Given the description of an element on the screen output the (x, y) to click on. 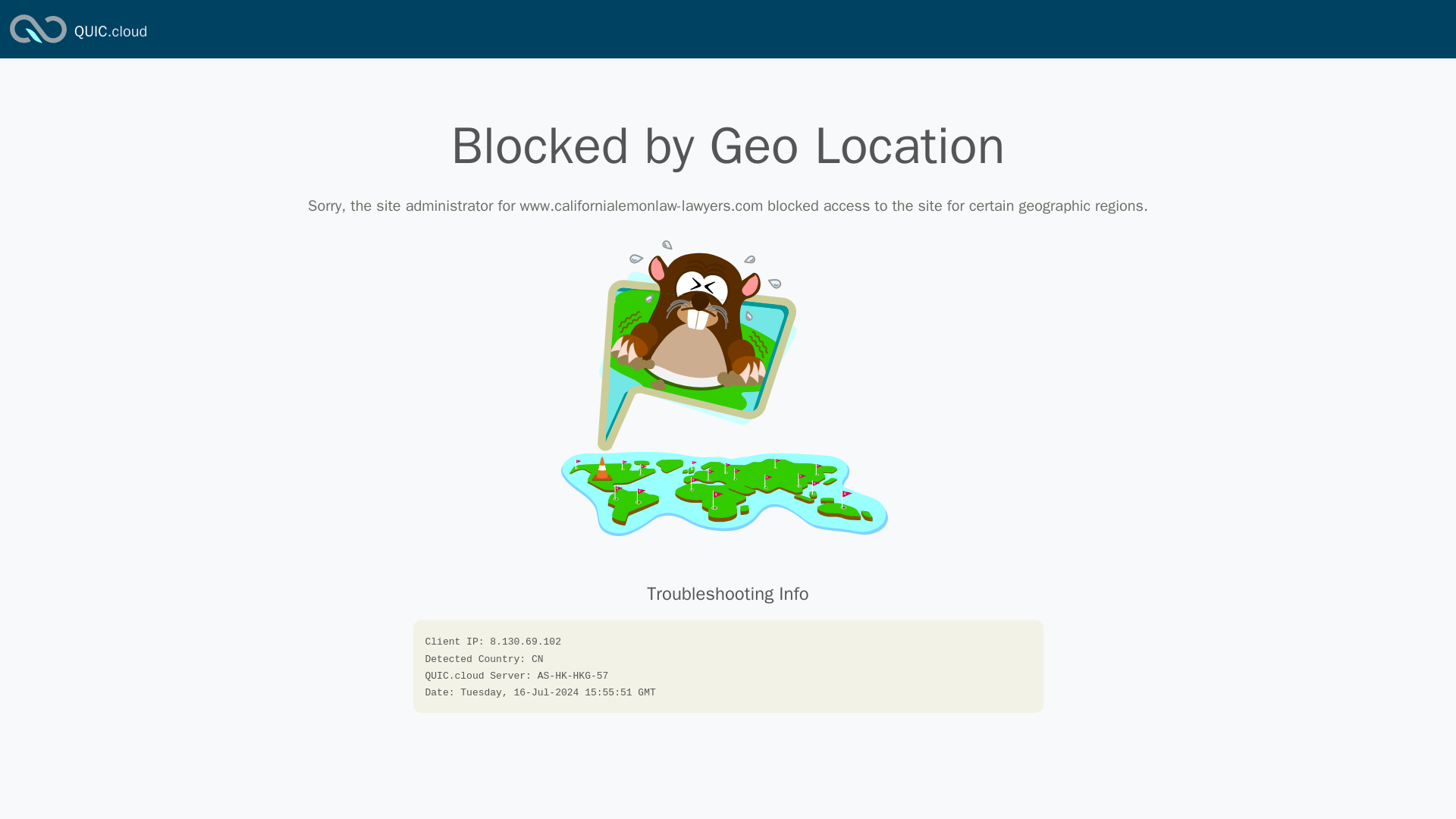
QUIC.cloud (110, 31)
QUIC.cloud (110, 31)
QUIC.cloud (37, 43)
